Given the description of an element on the screen output the (x, y) to click on. 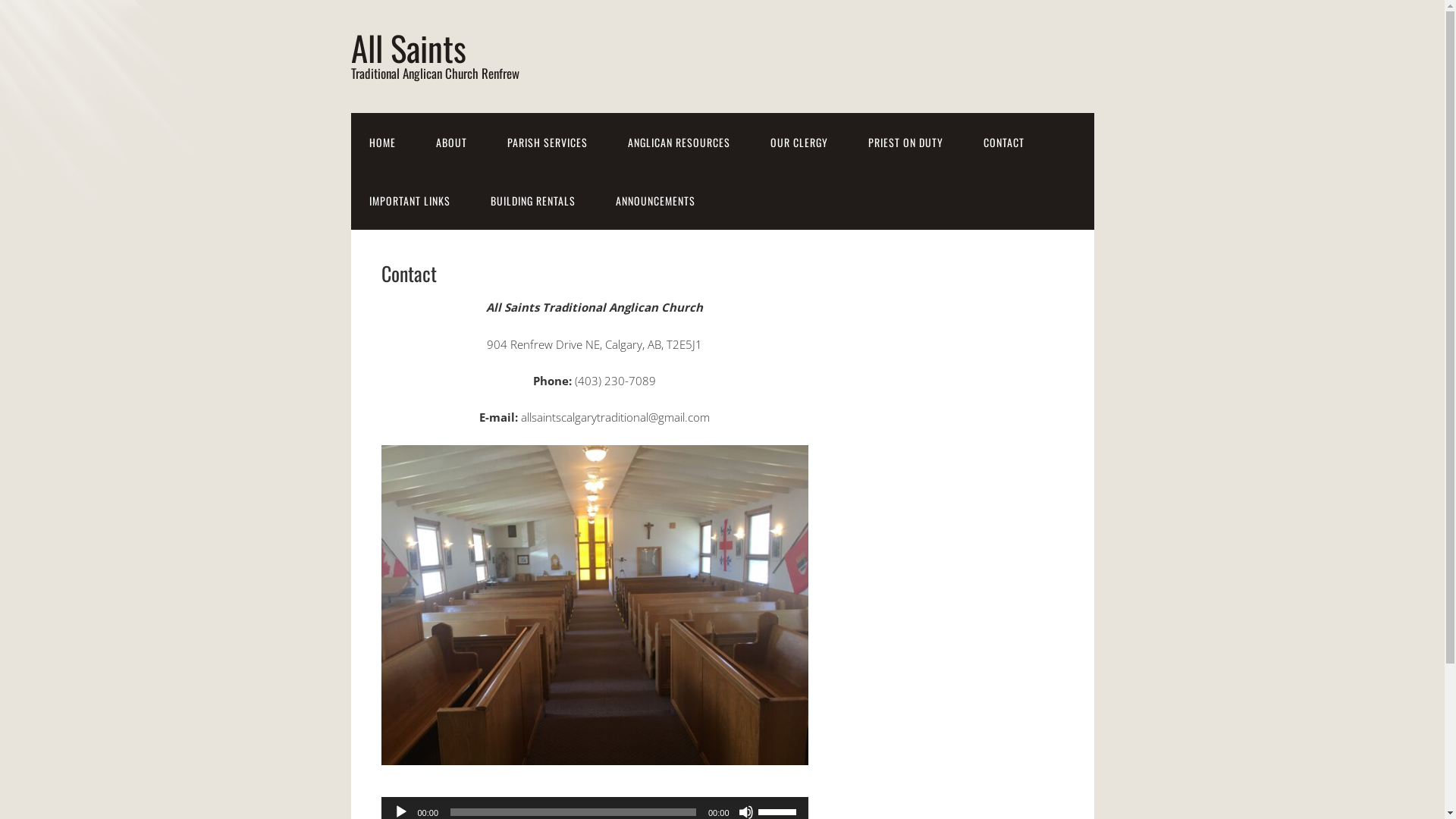
PRIEST ON DUTY Element type: text (904, 141)
HOME Element type: text (381, 141)
ABOUT Element type: text (450, 141)
ANNOUNCEMENTS Element type: text (655, 200)
All Saints Element type: text (407, 46)
IMPORTANT LINKS Element type: text (408, 200)
ANGLICAN RESOURCES Element type: text (678, 141)
BUILDING RENTALS Element type: text (532, 200)
PARISH SERVICES Element type: text (546, 141)
OUR CLERGY Element type: text (799, 141)
CONTACT Element type: text (1002, 141)
